Given the description of an element on the screen output the (x, y) to click on. 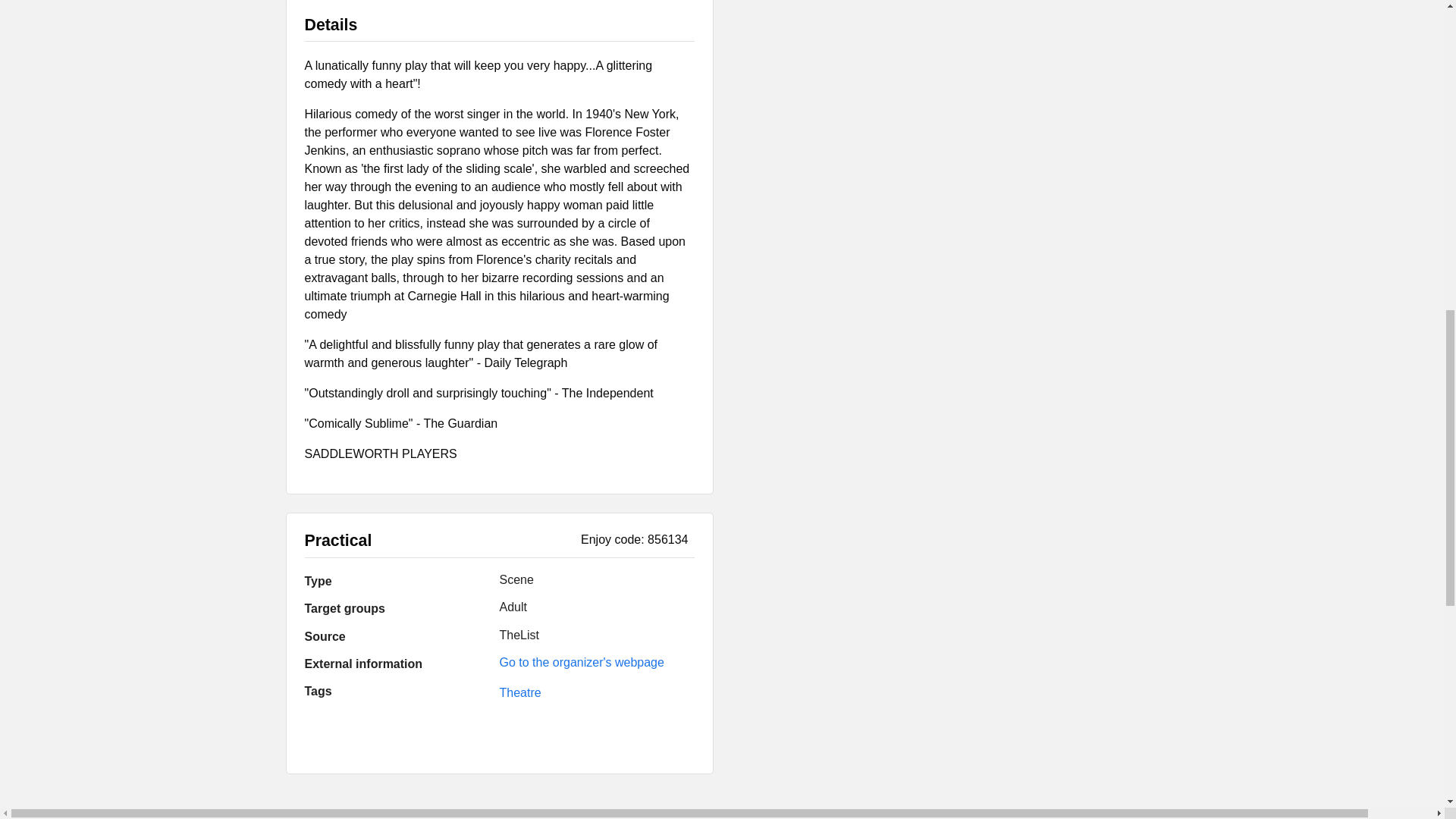
Activities tagged withTheatre (519, 692)
Go to the organizer's webpage (581, 662)
Theatre (519, 692)
